Given the description of an element on the screen output the (x, y) to click on. 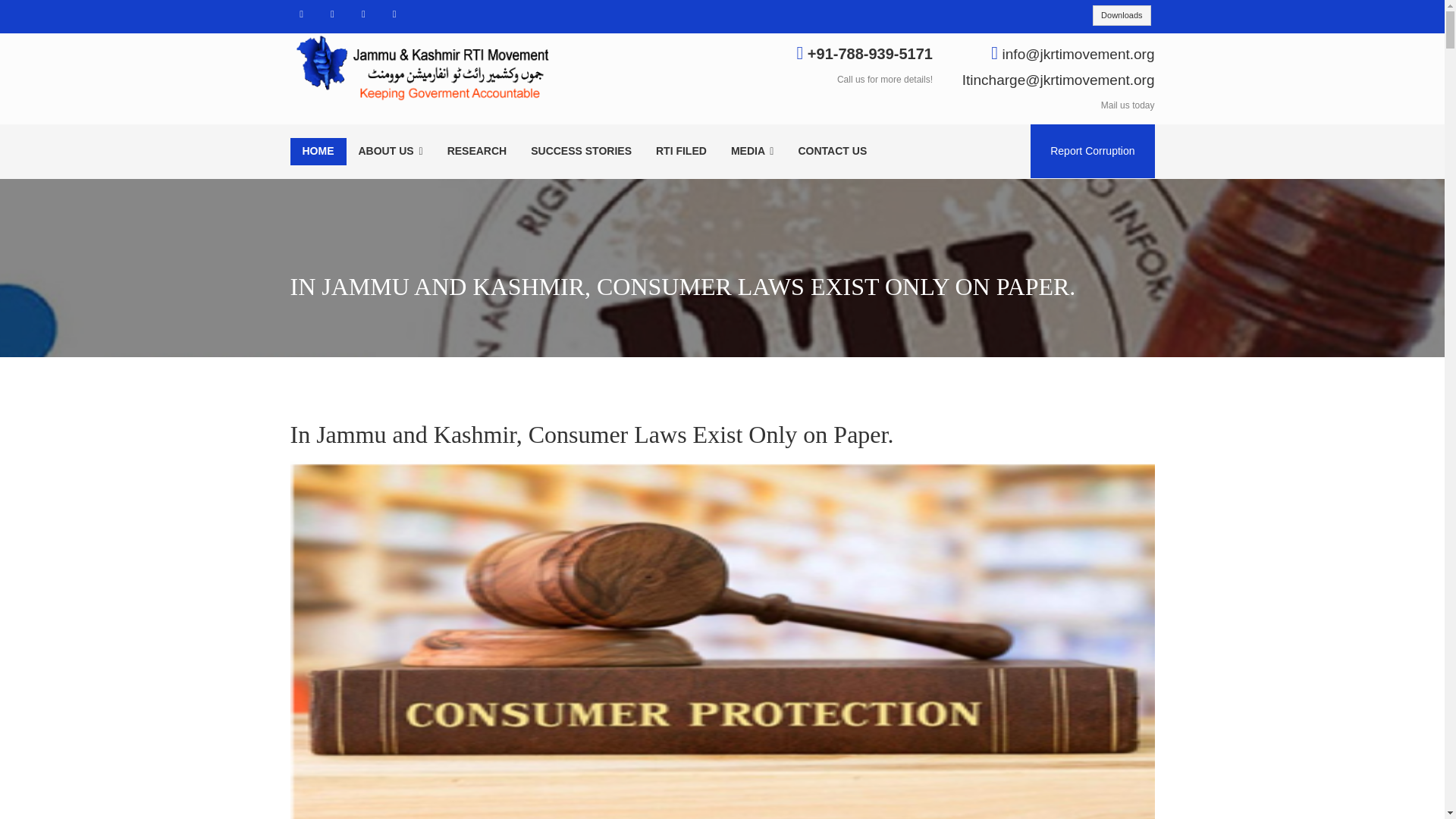
RTI FILED (681, 151)
MEDIA (752, 151)
Report Corruption (1092, 151)
Downloads (1121, 14)
HOME (317, 151)
RESEARCH (477, 151)
Call us for more details! (885, 79)
CONTACT US (832, 151)
SUCCESS STORIES (580, 151)
